Given the description of an element on the screen output the (x, y) to click on. 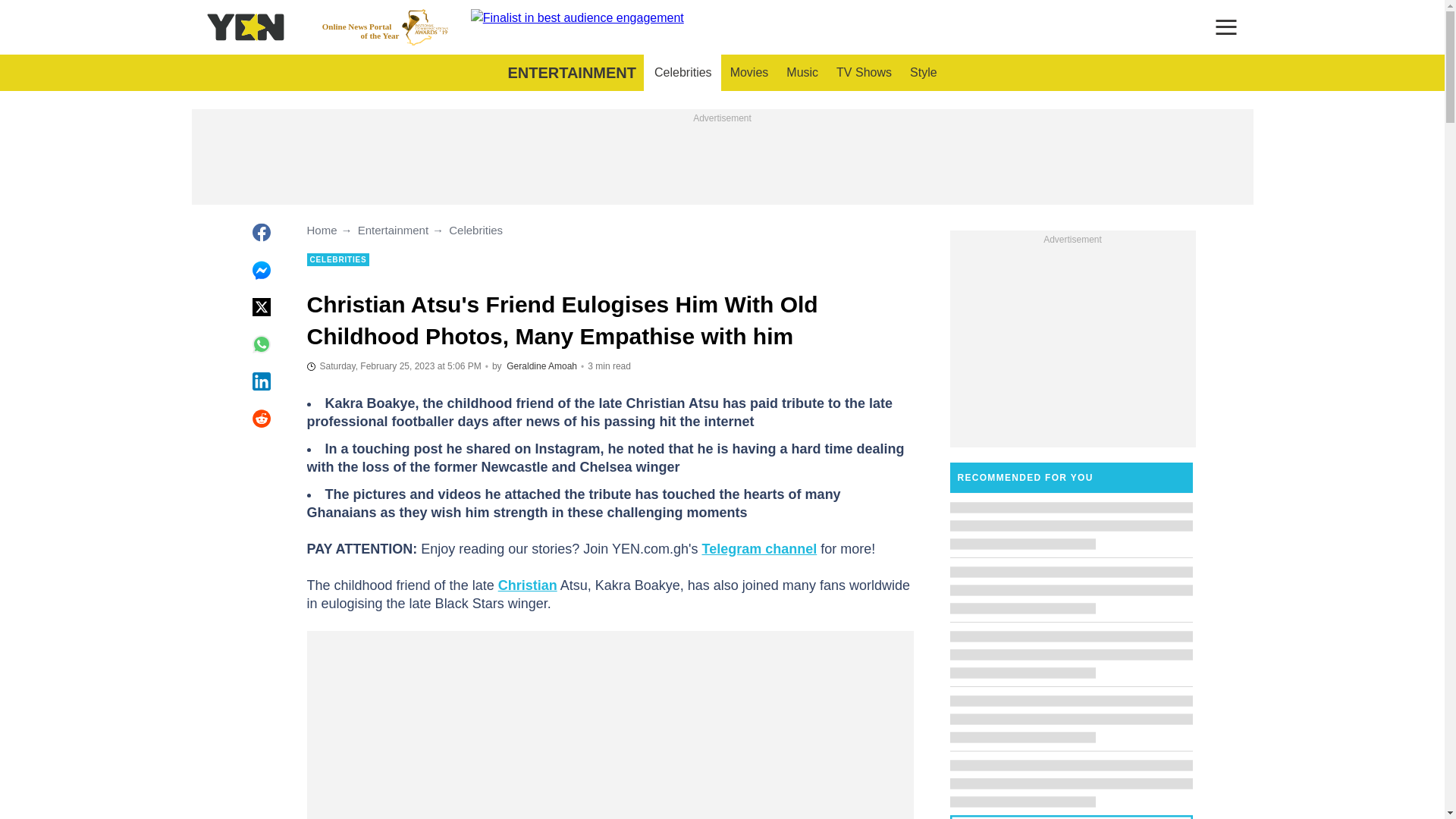
2023-02-25T17:06:35Z (392, 366)
TV Shows (864, 72)
ENTERTAINMENT (571, 72)
Movies (748, 72)
Music (802, 72)
Author page (541, 366)
Style (923, 72)
Celebrities (384, 27)
